Given the description of an element on the screen output the (x, y) to click on. 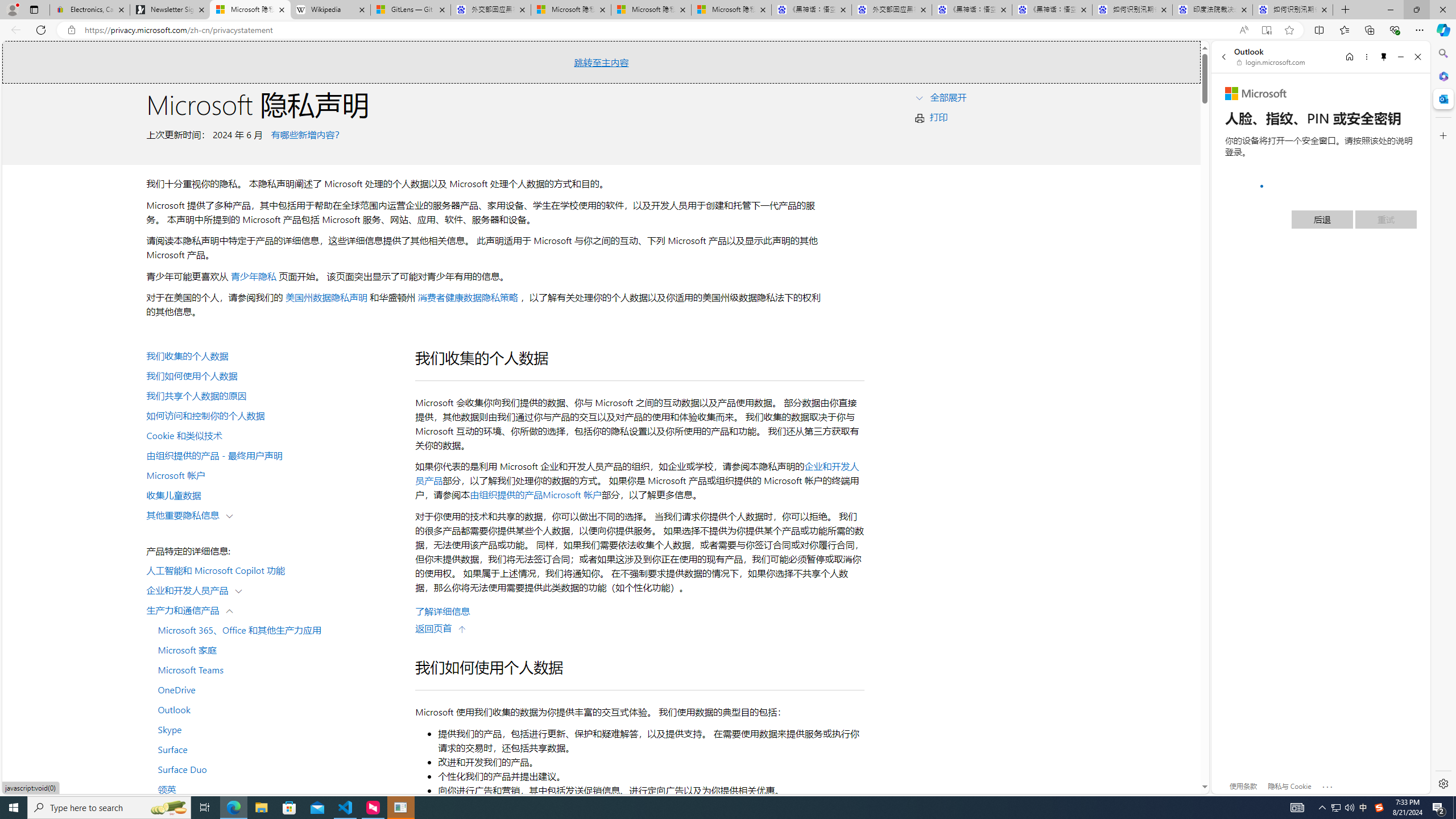
Microsoft Teams (274, 668)
